Given the description of an element on the screen output the (x, y) to click on. 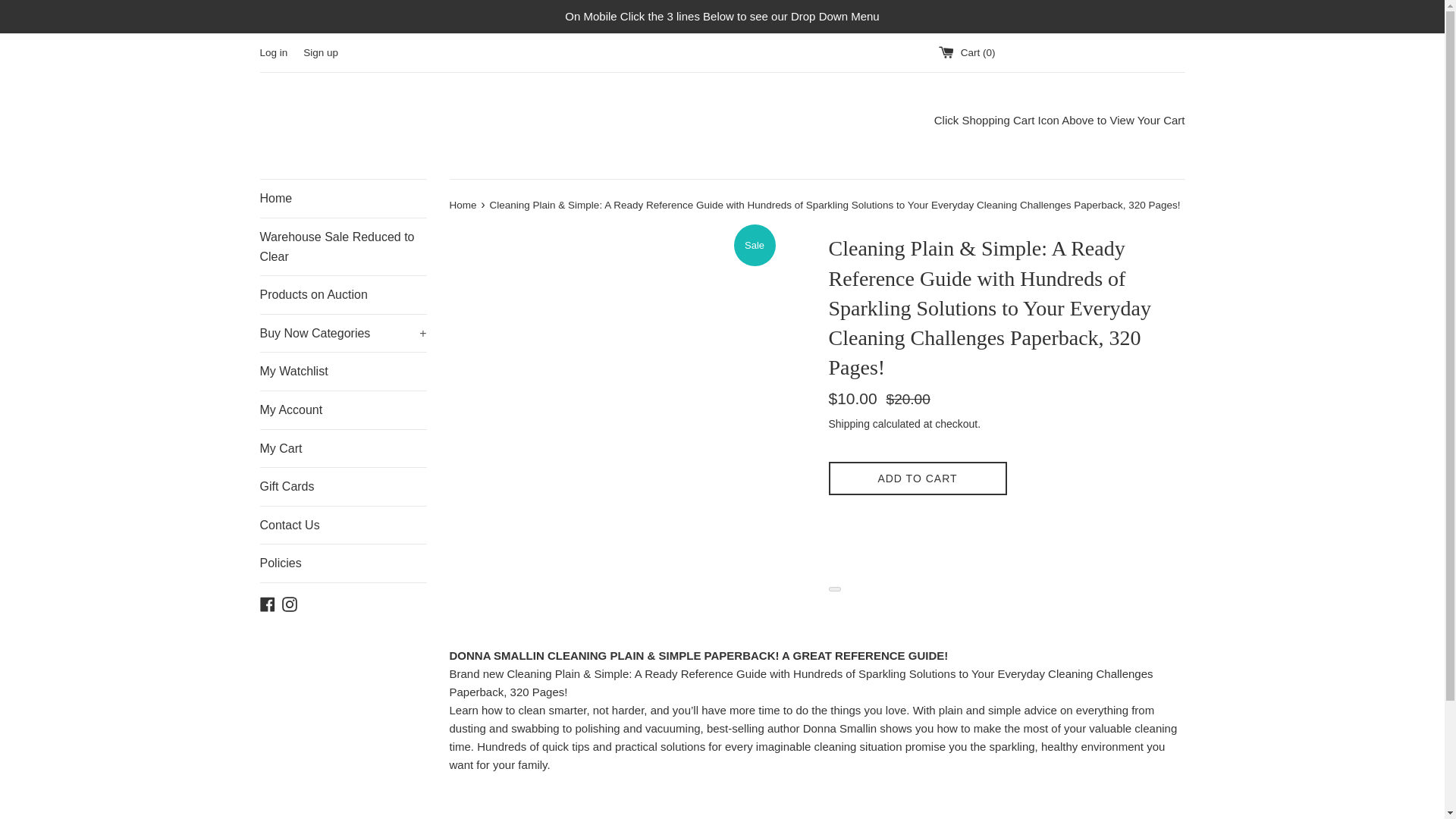
Products on Auction (342, 294)
Home (342, 198)
Sign up (319, 52)
Log in (272, 52)
Contact Us (342, 525)
The Warehouse Liquidation on Instagram (289, 603)
My Watchlist (342, 371)
Warehouse Sale Reduced to Clear (342, 246)
Policies (342, 563)
My Cart (342, 448)
